Given the description of an element on the screen output the (x, y) to click on. 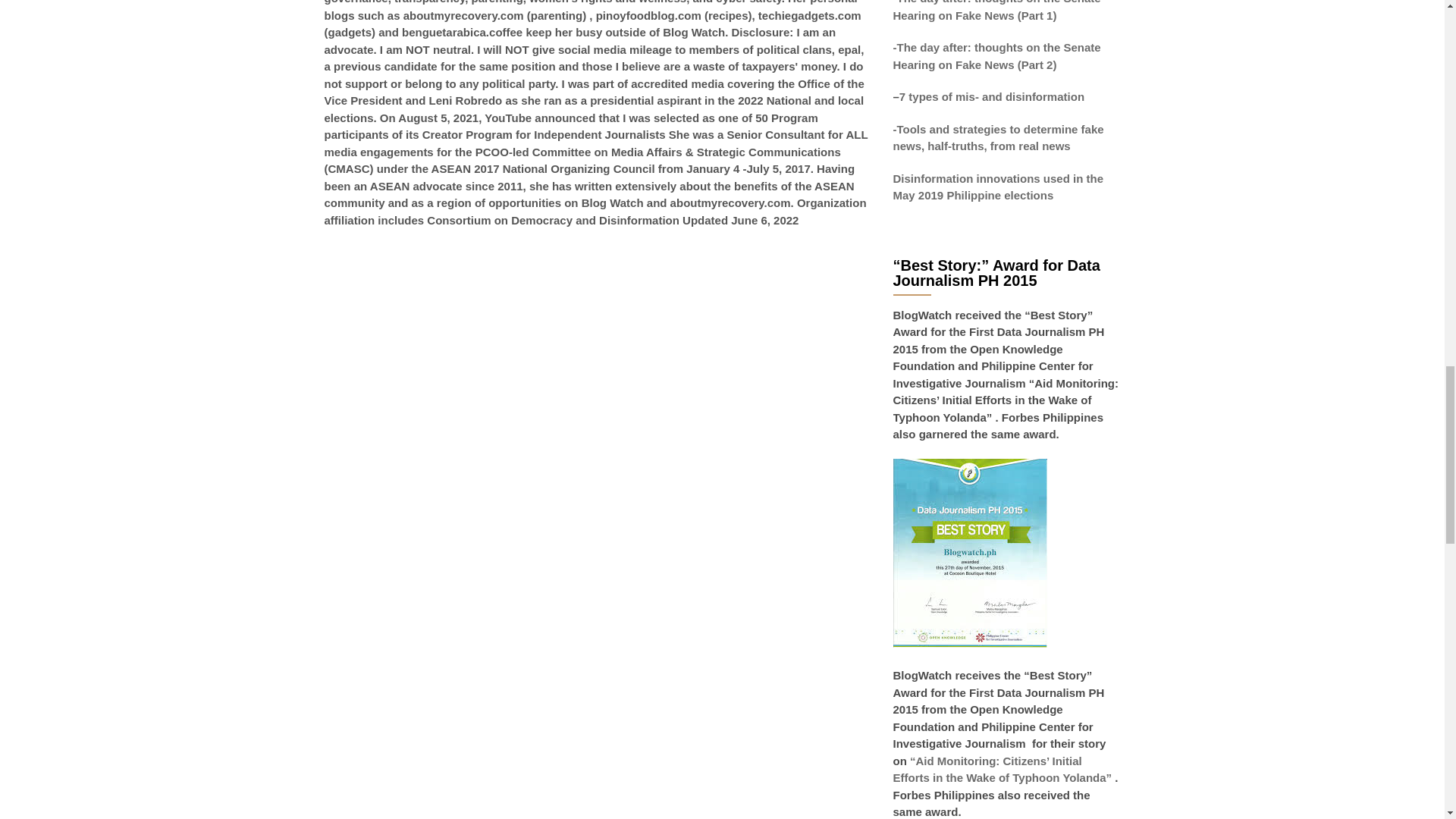
7 types of mis- and disinformation  (993, 96)
